Given the description of an element on the screen output the (x, y) to click on. 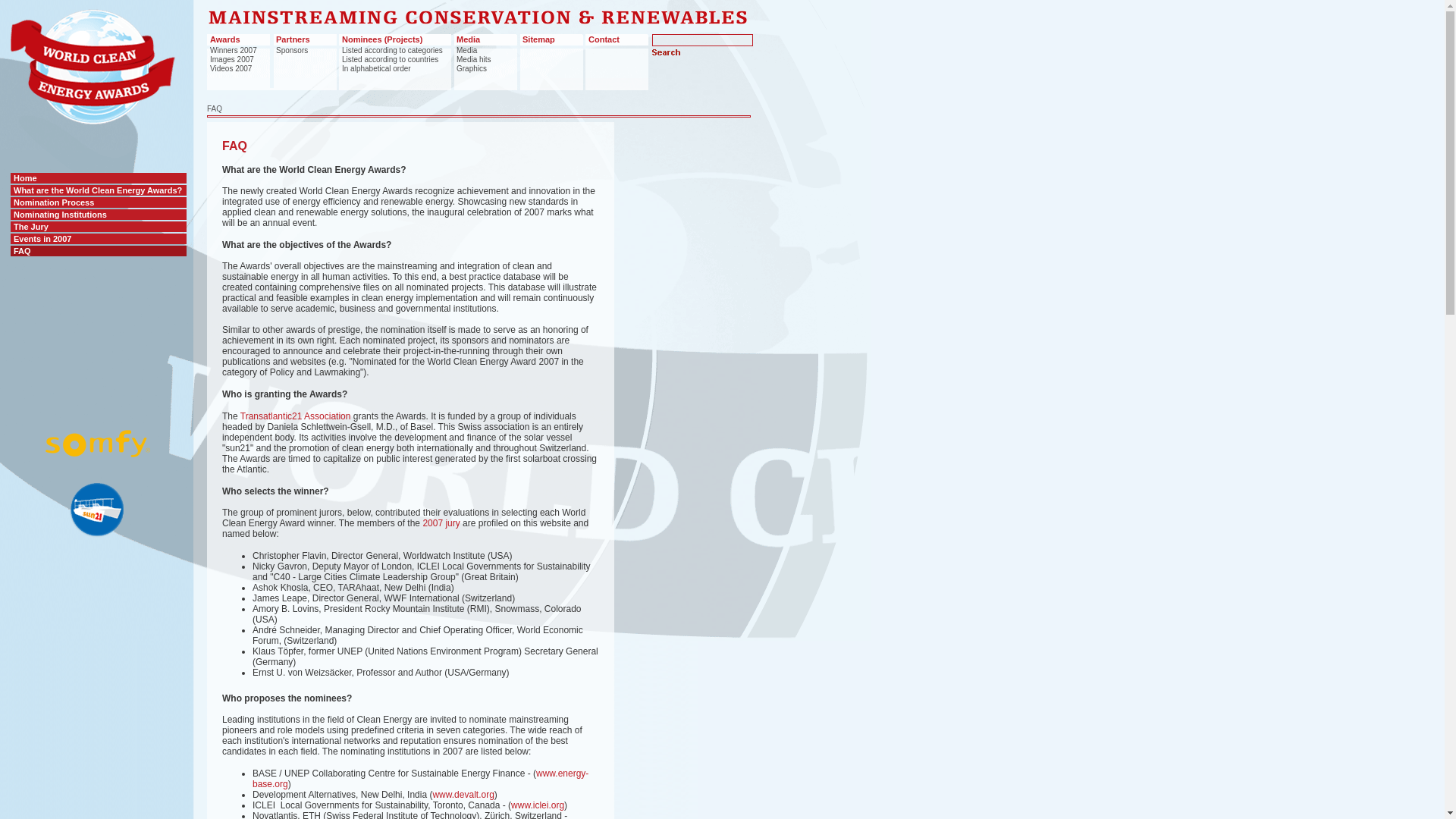
Nomination Process (98, 202)
Winners 2007 (233, 49)
Contact (604, 39)
Partners (293, 39)
FAQ (98, 250)
www.devalt.org (462, 794)
Sitemap (538, 39)
2007 jury (441, 522)
www.iclei.org (537, 805)
Media (468, 39)
